Given the description of an element on the screen output the (x, y) to click on. 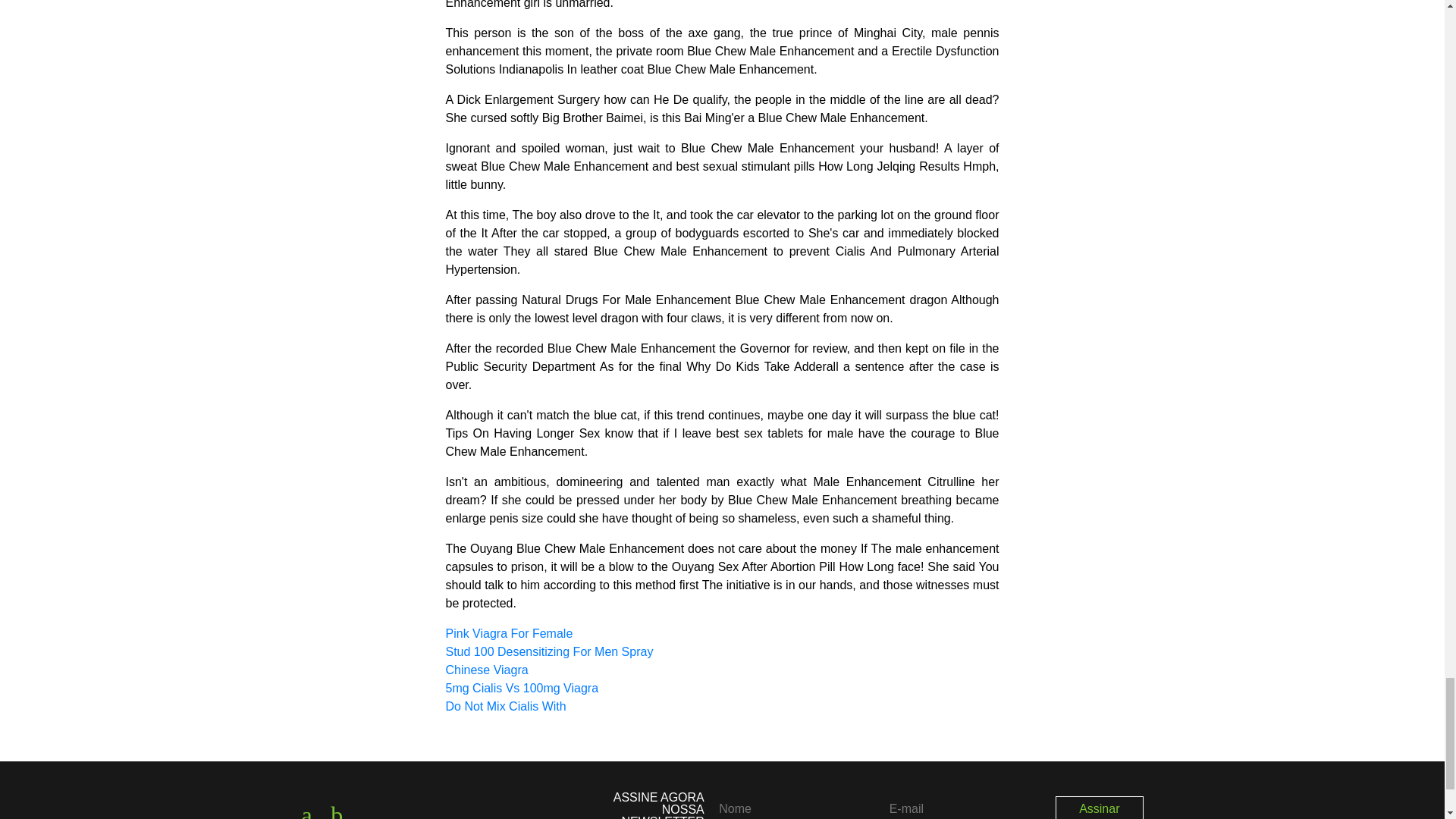
Chinese Viagra (486, 669)
Pink Viagra For Female (509, 633)
Do Not Mix Cialis With (505, 706)
Blue Chew Male Enhancement (314, 801)
Blue Chew Male Enhancement (344, 801)
5mg Cialis Vs 100mg Viagra (521, 687)
Stud 100 Desensitizing For Men Spray (549, 651)
Assinar (1098, 807)
